Given the description of an element on the screen output the (x, y) to click on. 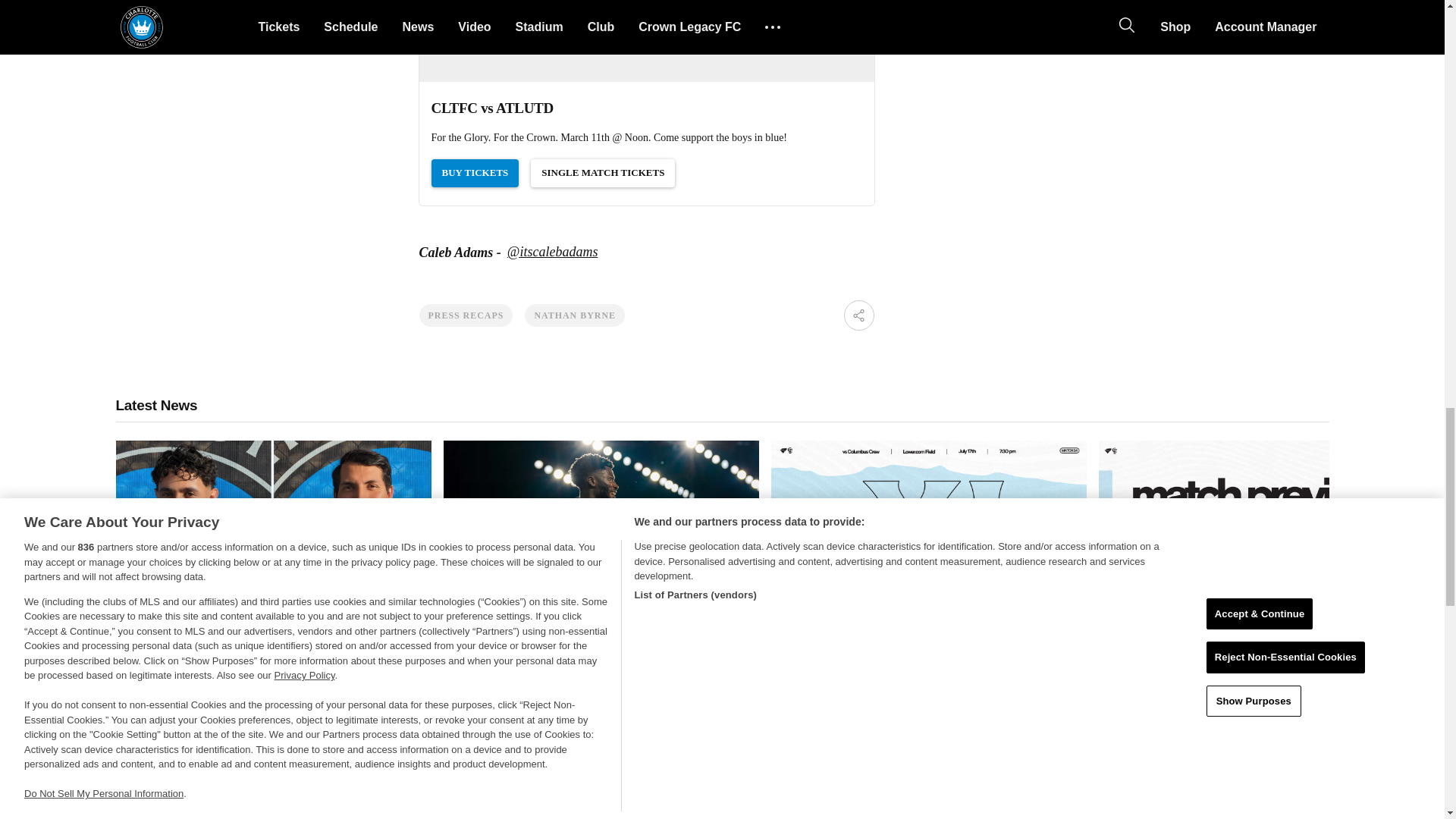
SINGLE MATCH TICKETS (603, 172)
Match Preview: Charlotte FC at Columbus Crew (1255, 545)
Go to the Twitter profile (552, 252)
BUY TICKETS (474, 172)
